Given the description of an element on the screen output the (x, y) to click on. 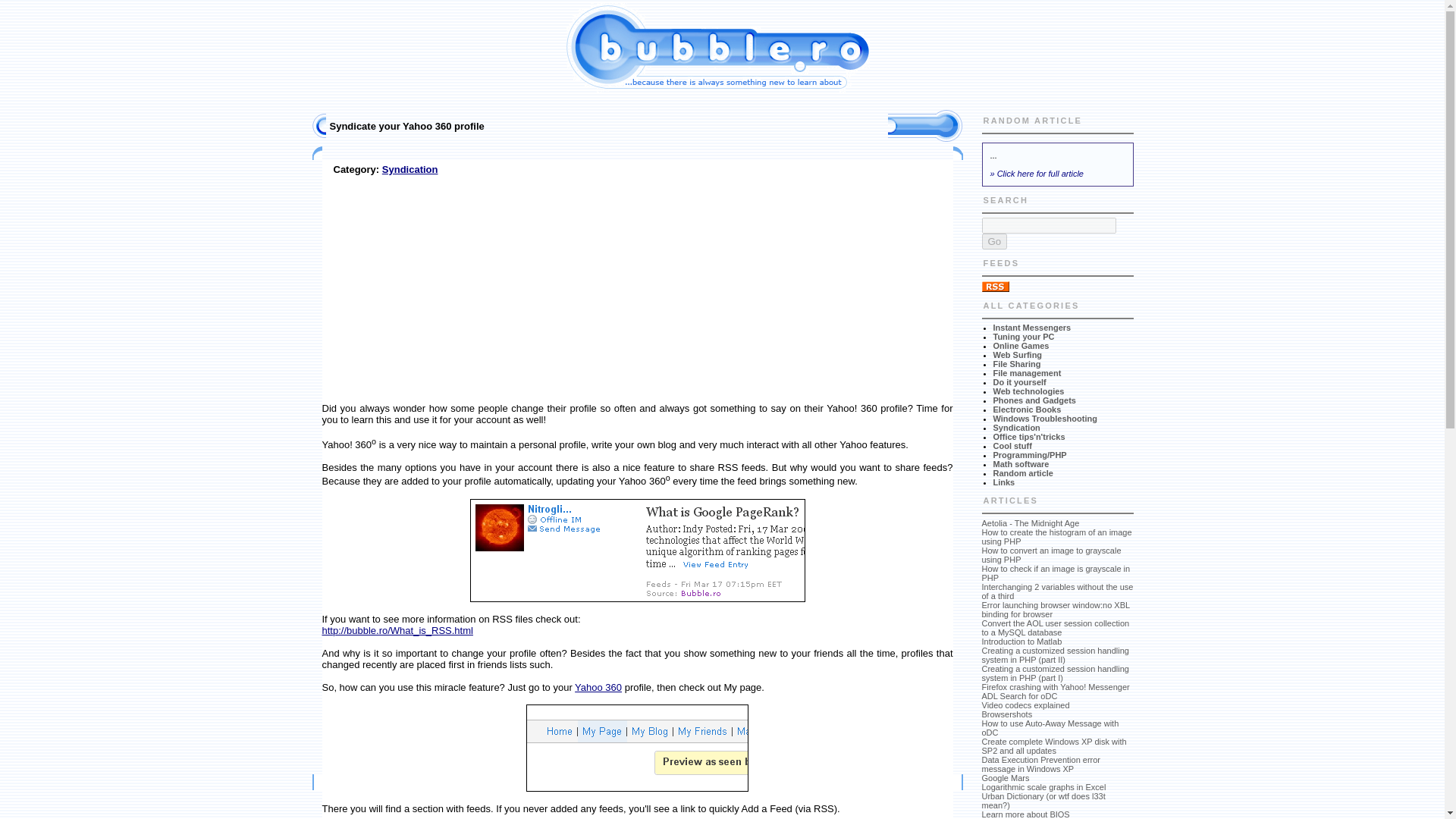
Go (994, 241)
Do it yourself (1019, 381)
How to check if an image is grayscale in PHP (1055, 573)
Cool stuff (1012, 445)
Online Games (1020, 345)
Aetolia - The Midnight Age (1029, 522)
Office tips'n'tricks (1028, 436)
Syndication (1016, 427)
Advertisement (488, 101)
File Sharing (1016, 363)
Go (994, 241)
How to create the histogram of an image using PHP (1056, 536)
Random article (1022, 472)
Advertisement (448, 288)
Tuning your PC (1023, 336)
